Given the description of an element on the screen output the (x, y) to click on. 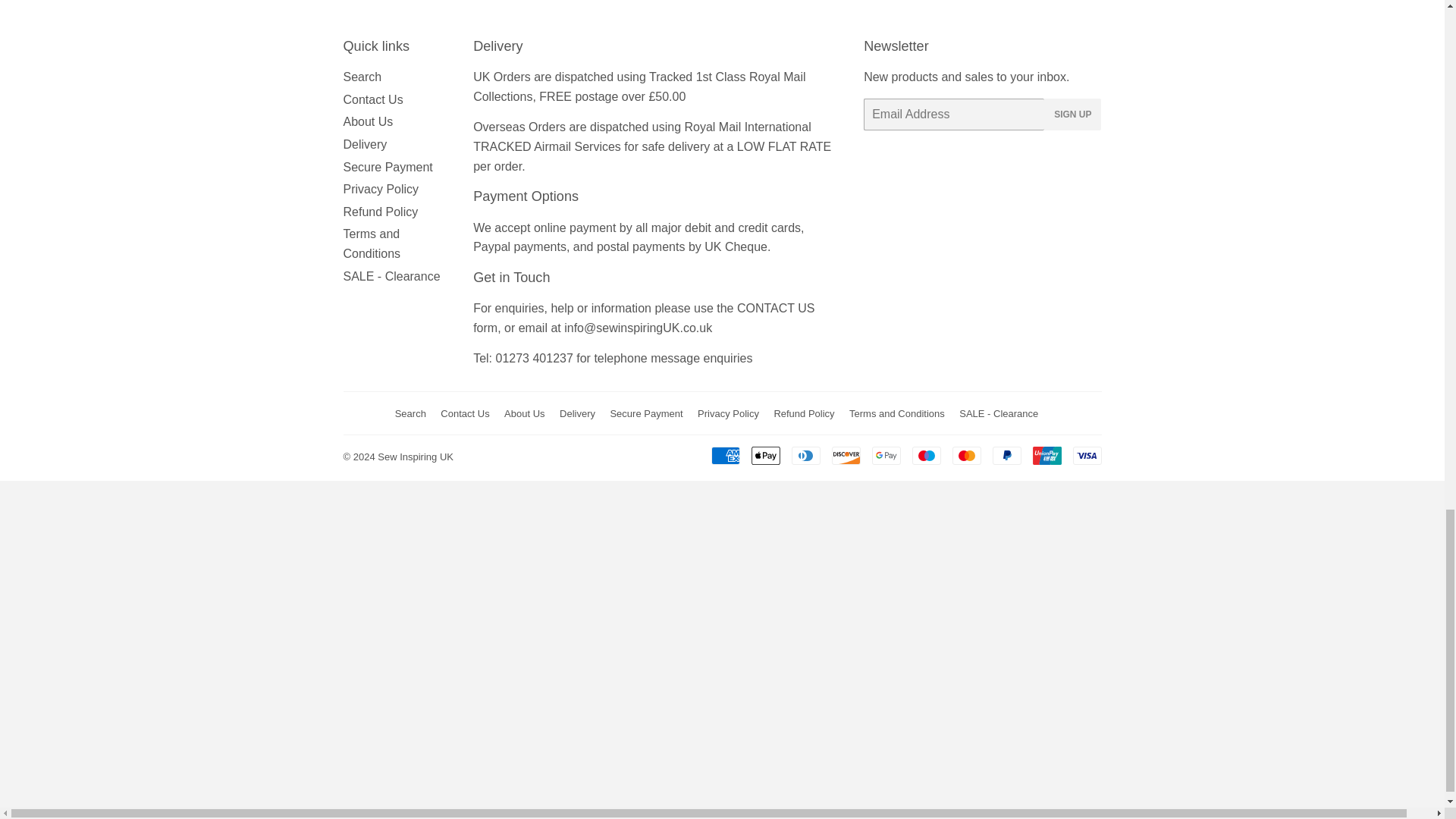
Mastercard (966, 455)
Maestro (925, 455)
Discover (845, 455)
American Express (725, 455)
PayPal (1005, 455)
Union Pay (1046, 455)
Diners Club (806, 455)
Visa (1085, 455)
Apple Pay (764, 455)
Google Pay (886, 455)
